Given the description of an element on the screen output the (x, y) to click on. 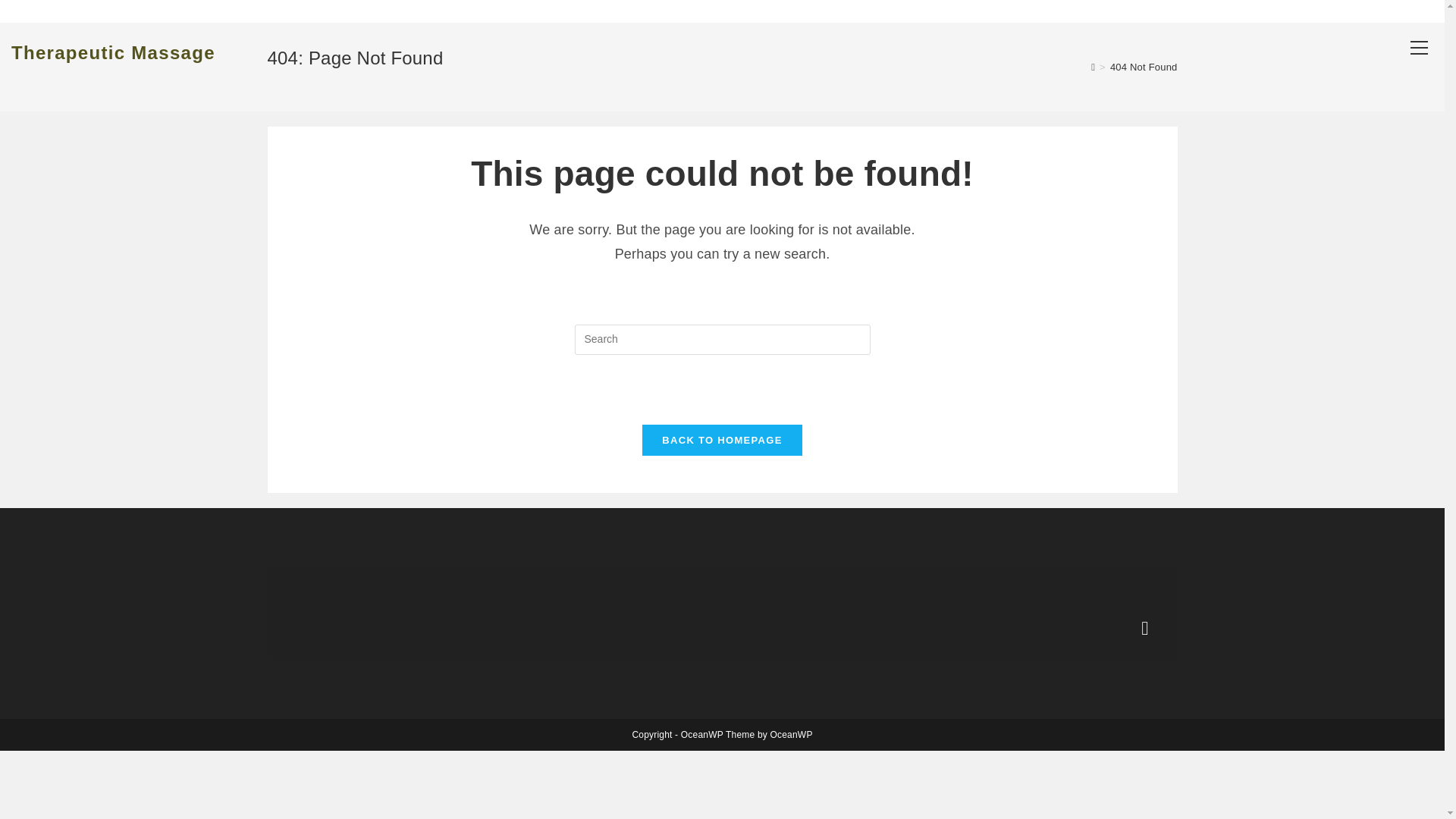
404 Not Found (1143, 66)
Therapeutic Massage (113, 52)
BACK TO HOMEPAGE (722, 440)
